Given the description of an element on the screen output the (x, y) to click on. 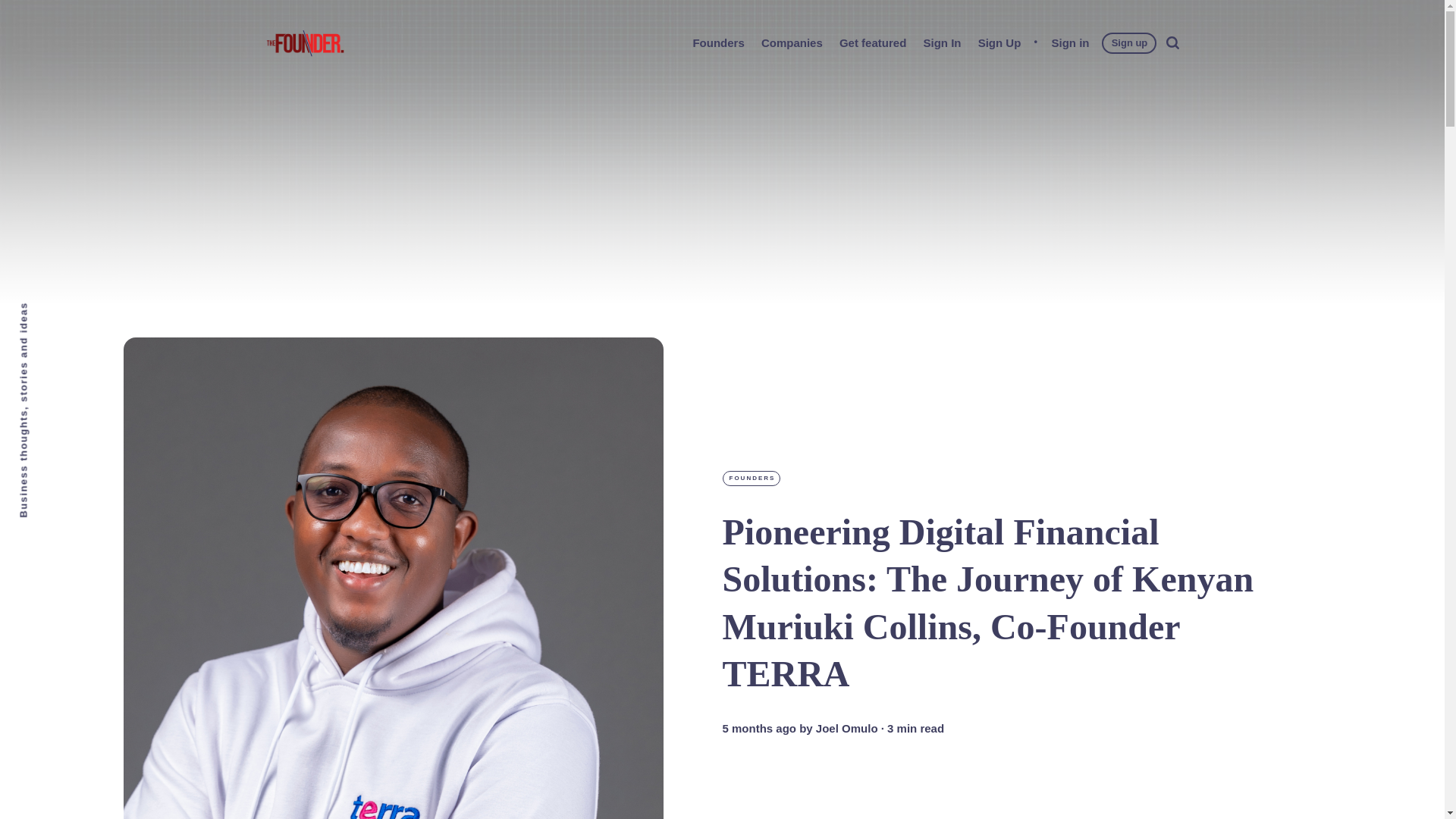
Sign In (941, 42)
Joel Omulo (846, 728)
Founders (717, 42)
Sign up (1129, 42)
FOUNDERS (751, 478)
Sign Up (999, 42)
Sign in (1069, 42)
Get featured (872, 42)
Companies (792, 42)
